Given the description of an element on the screen output the (x, y) to click on. 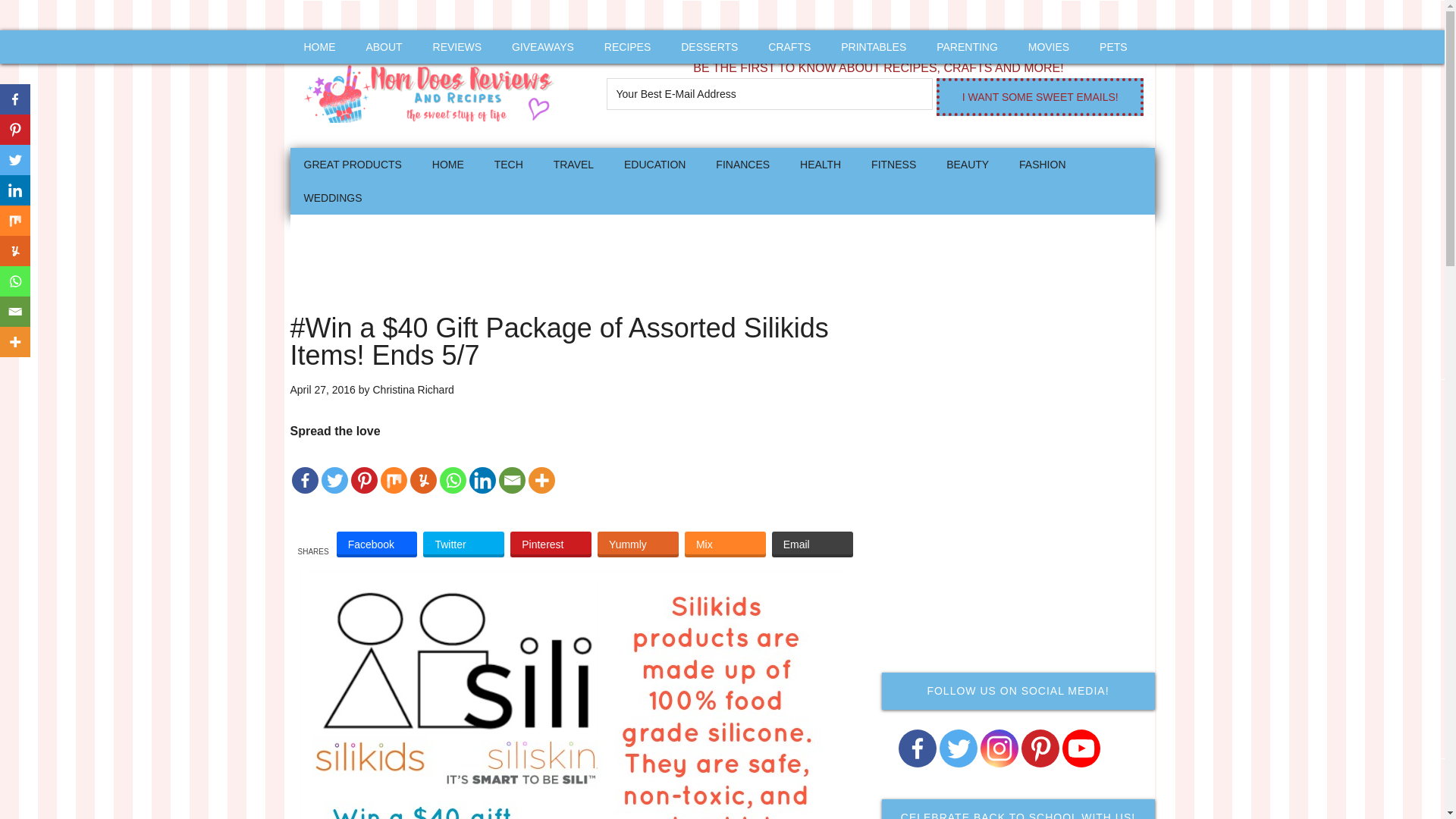
GREAT PRODUCTS (351, 164)
PARENTING (967, 46)
RECIPES (627, 46)
I want some Sweet Emails! (1039, 96)
Home (448, 164)
PRINTABLES (873, 46)
review (457, 46)
TECH (508, 164)
PETS (1113, 46)
Christina Richard (412, 389)
